Given the description of an element on the screen output the (x, y) to click on. 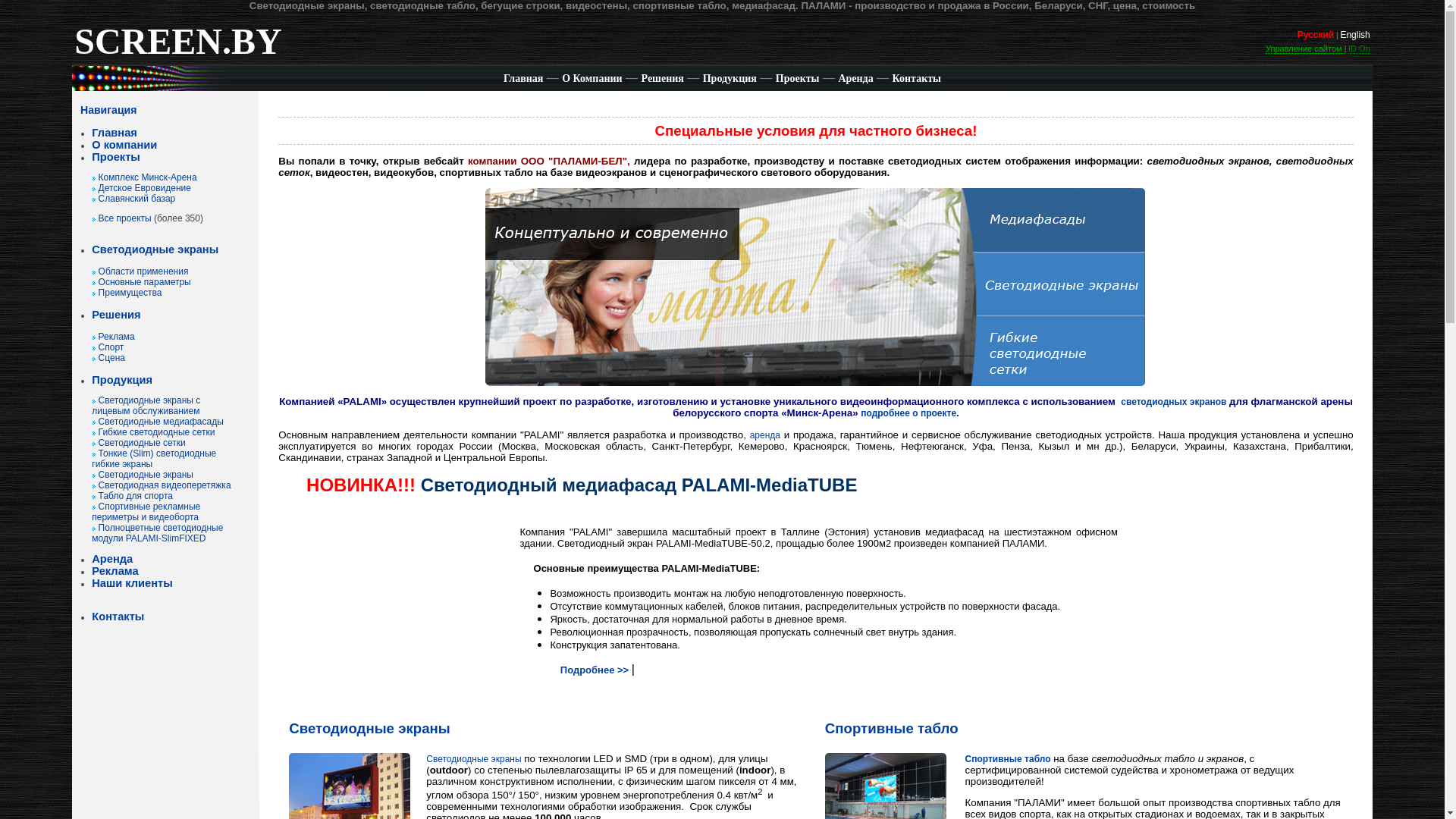
SCREEN.BY Element type: text (177, 50)
English Element type: text (1354, 34)
ID On Element type: text (1359, 48)
